Given the description of an element on the screen output the (x, y) to click on. 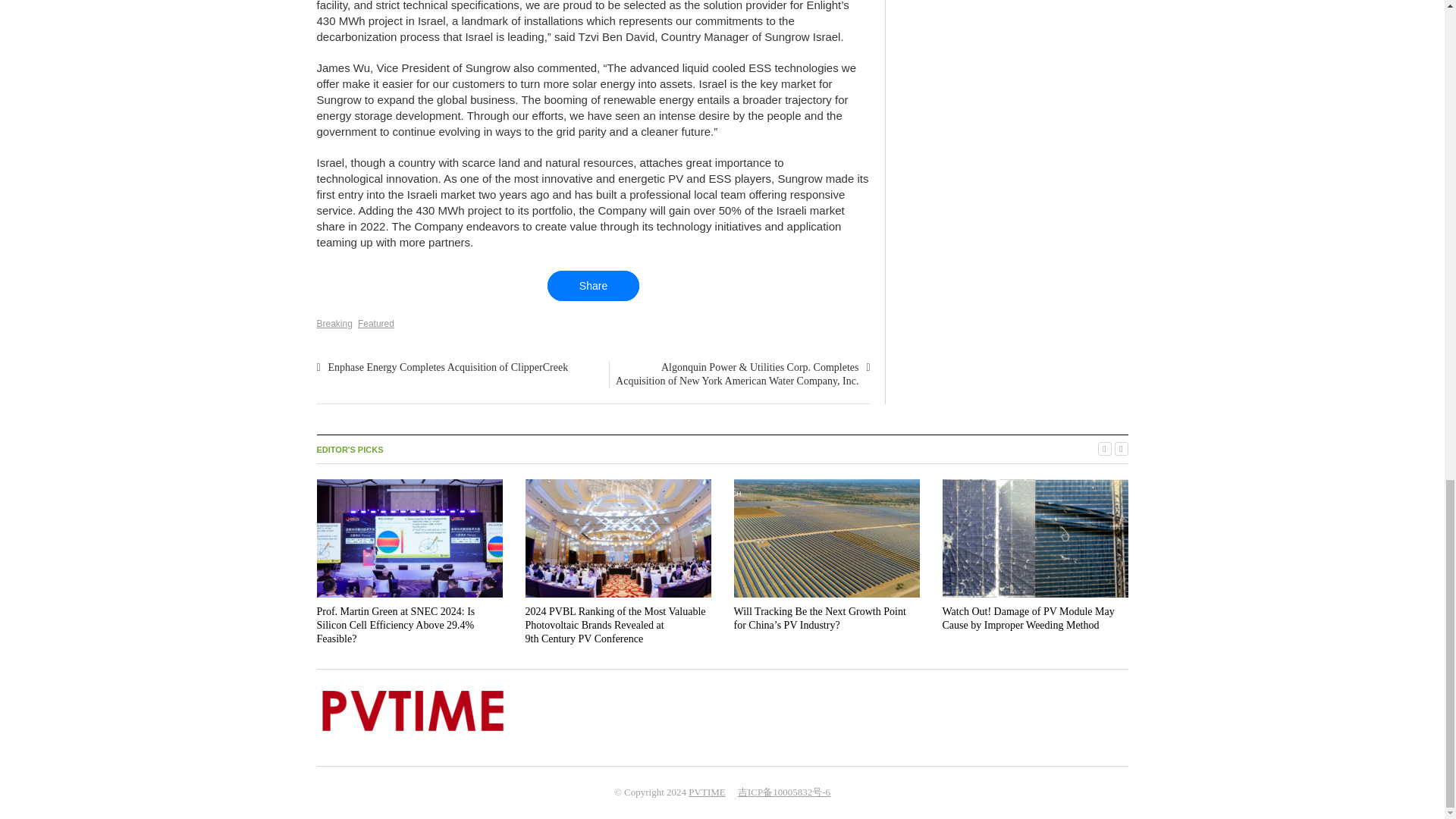
Share (593, 286)
Breaking (334, 323)
Featured (376, 323)
Enphase Energy Completes Acquisition of ClipperCreek (447, 367)
